Given the description of an element on the screen output the (x, y) to click on. 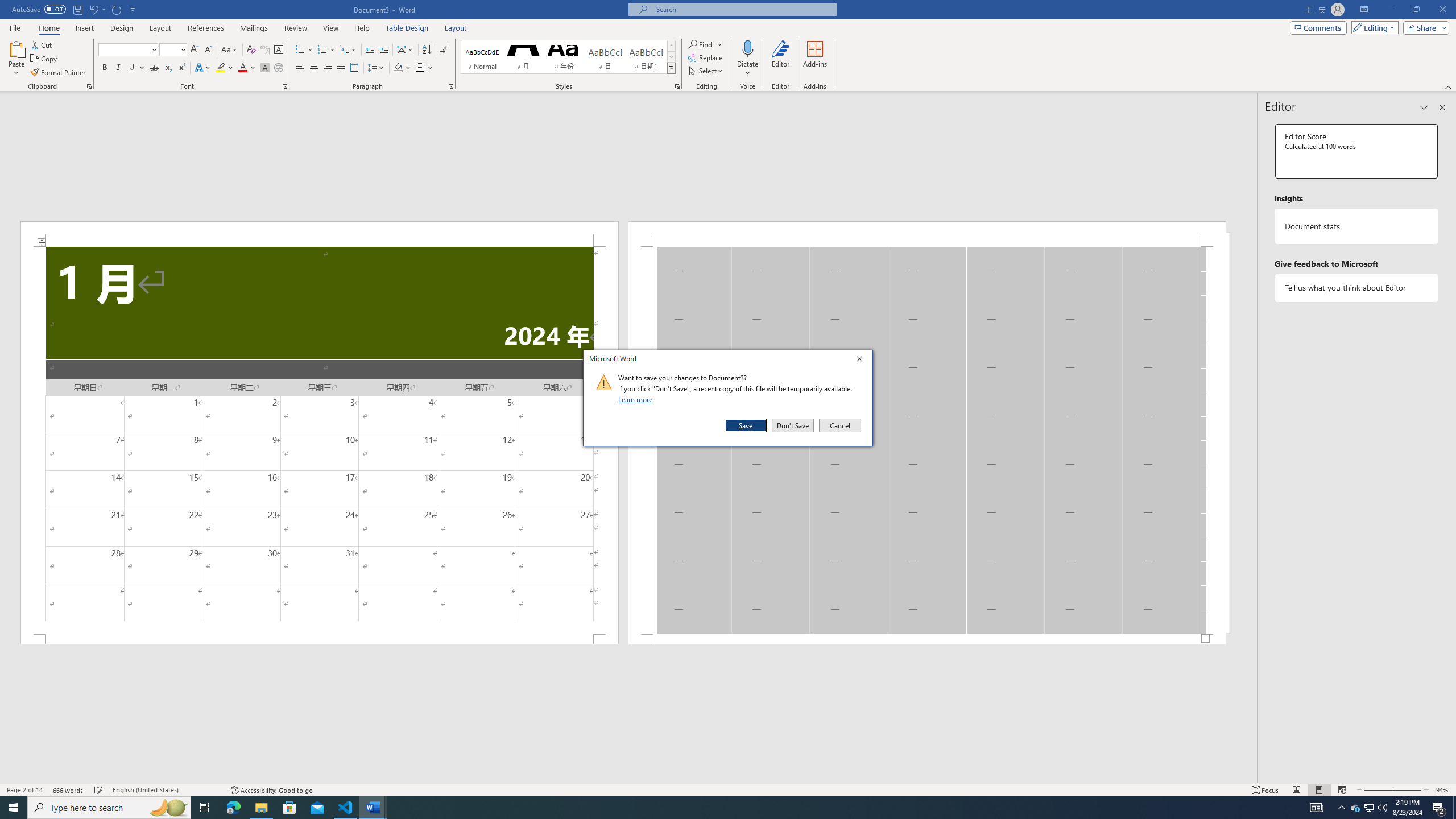
Bold (104, 67)
Center (313, 67)
Show desktop (1454, 807)
Don't Save (792, 425)
Justify (340, 67)
Underline (131, 67)
Text Highlight Color Yellow (220, 67)
Character Shading (264, 67)
Class: NetUIImage (603, 382)
Copy (45, 58)
Strikethrough (154, 67)
Cut (42, 44)
Font Size (169, 49)
Sort... (426, 49)
